Given the description of an element on the screen output the (x, y) to click on. 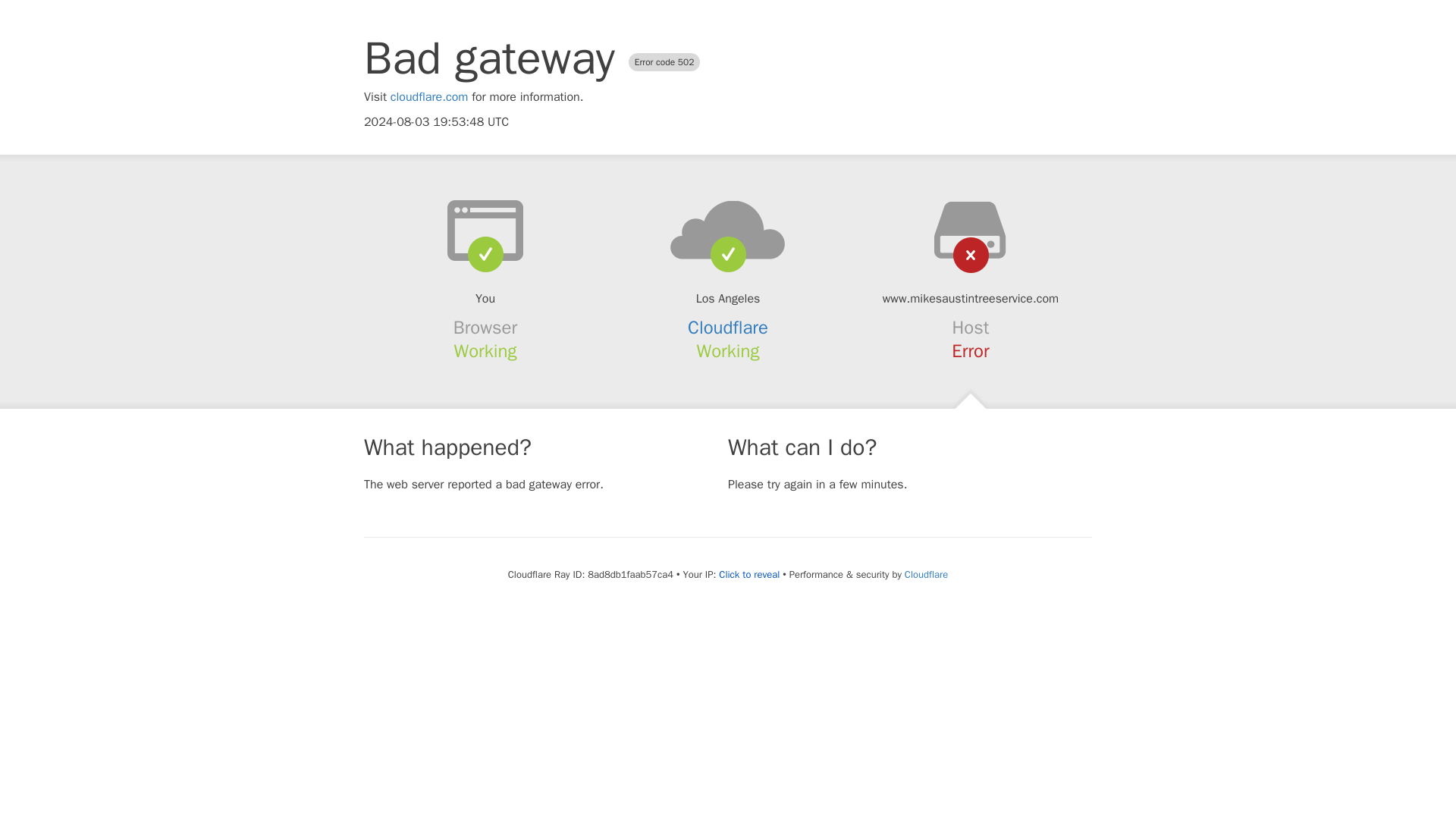
Click to reveal (748, 574)
cloudflare.com (429, 96)
Cloudflare (925, 574)
Cloudflare (727, 327)
